Given the description of an element on the screen output the (x, y) to click on. 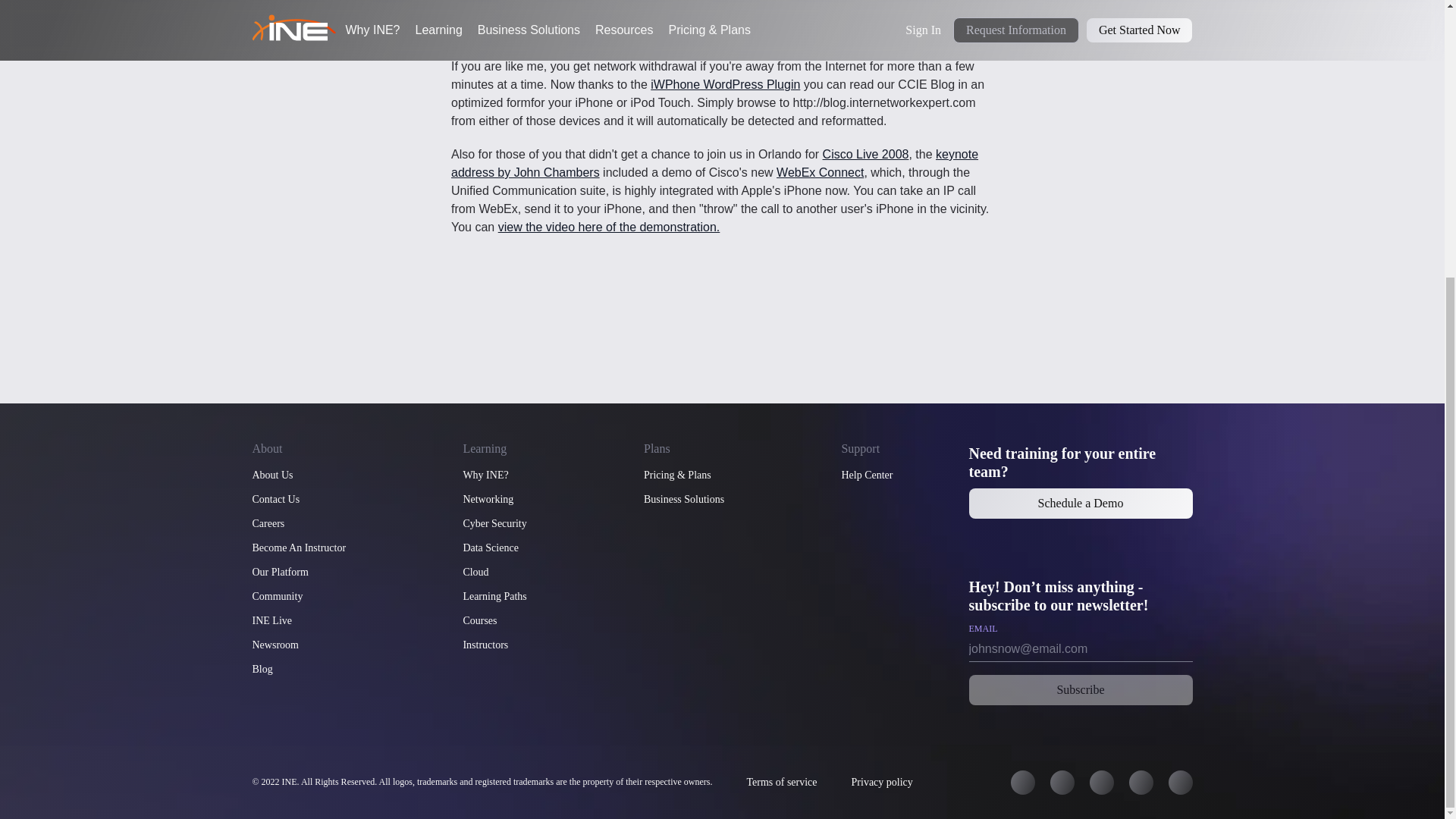
WebEx Connect (819, 172)
Schedule a Demo (1080, 503)
Cisco Live 2008 (865, 154)
Community (276, 595)
keynote address by John Chambers (714, 163)
Careers (267, 523)
iWPhone WordPress Plugin (724, 83)
WebEx Connect (819, 172)
view the video here of the demonstration. (608, 226)
Become An Instructor (298, 547)
Subscribe (1080, 689)
